Given the description of an element on the screen output the (x, y) to click on. 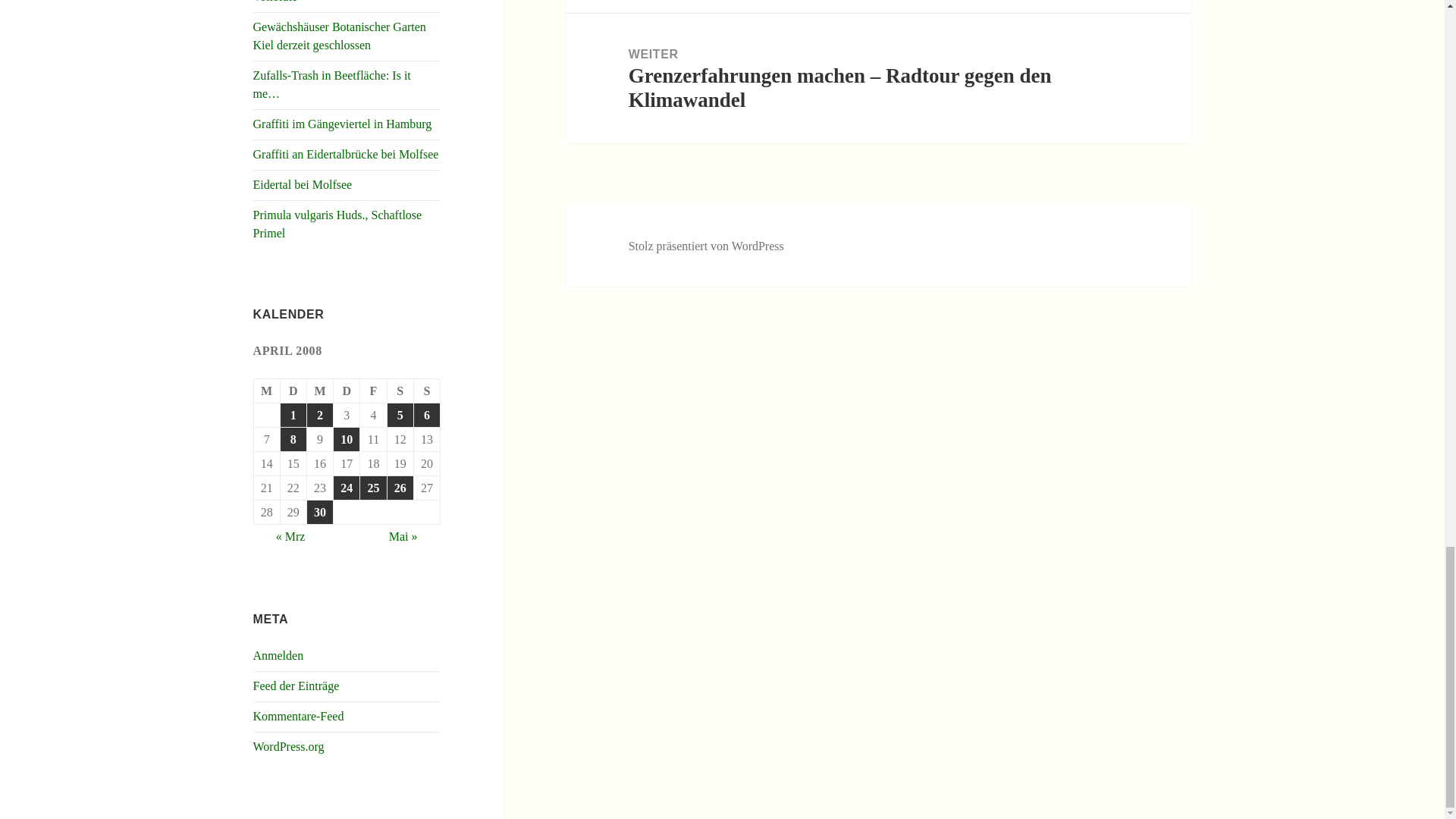
Montag (267, 391)
Freitag (373, 391)
Mittwoch (320, 391)
Dienstag (294, 391)
Sonntag (427, 391)
Samstag (400, 391)
Donnerstag (346, 391)
